Given the description of an element on the screen output the (x, y) to click on. 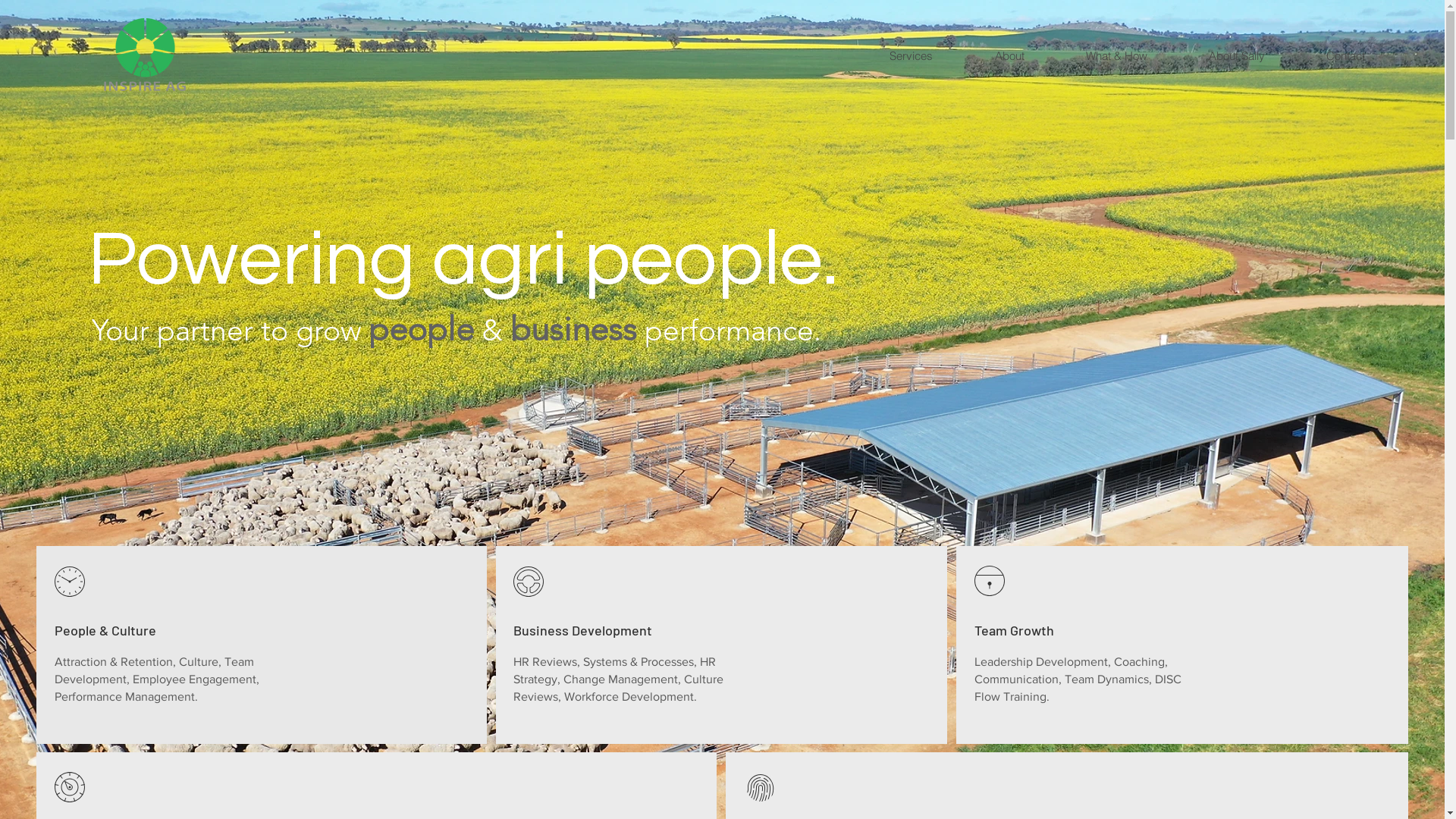
Inspire AG logo_grey.png Element type: hover (145, 56)
About Element type: text (1008, 56)
About Sally Element type: text (1236, 56)
What & How Element type: text (1115, 56)
Contact Element type: text (1345, 56)
Services Element type: text (910, 56)
